Given the description of an element on the screen output the (x, y) to click on. 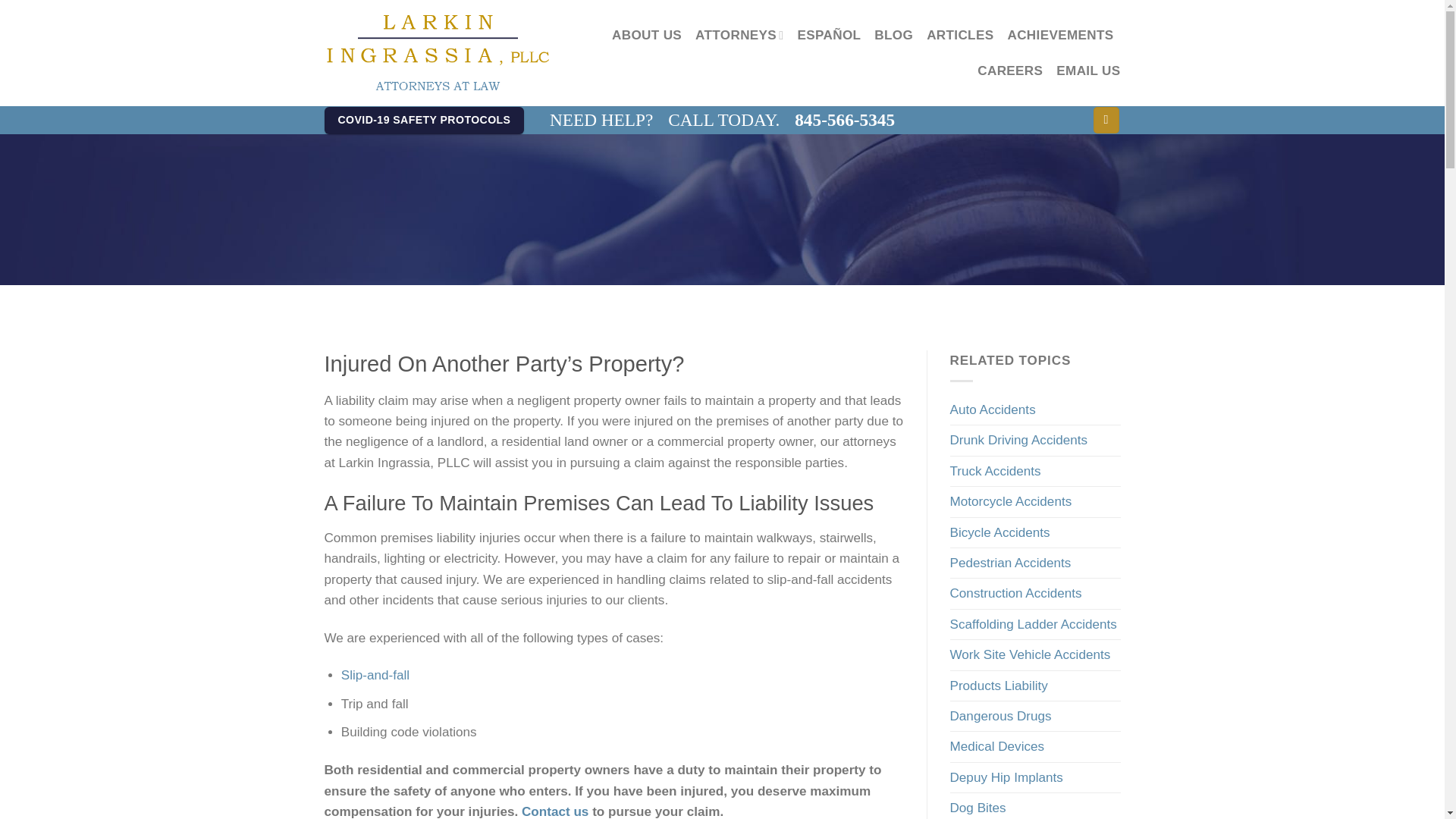
Motorcycle Accidents (1010, 501)
Depuy Hip Implants (1005, 777)
Dog Bites (977, 806)
845-566-5345 (844, 120)
Dangerous Drugs (1000, 716)
Auto Accidents (992, 409)
CAREERS (1009, 70)
Pedestrian Accidents (1009, 562)
ARTICLES (959, 35)
Contact us (554, 811)
